Given the description of an element on the screen output the (x, y) to click on. 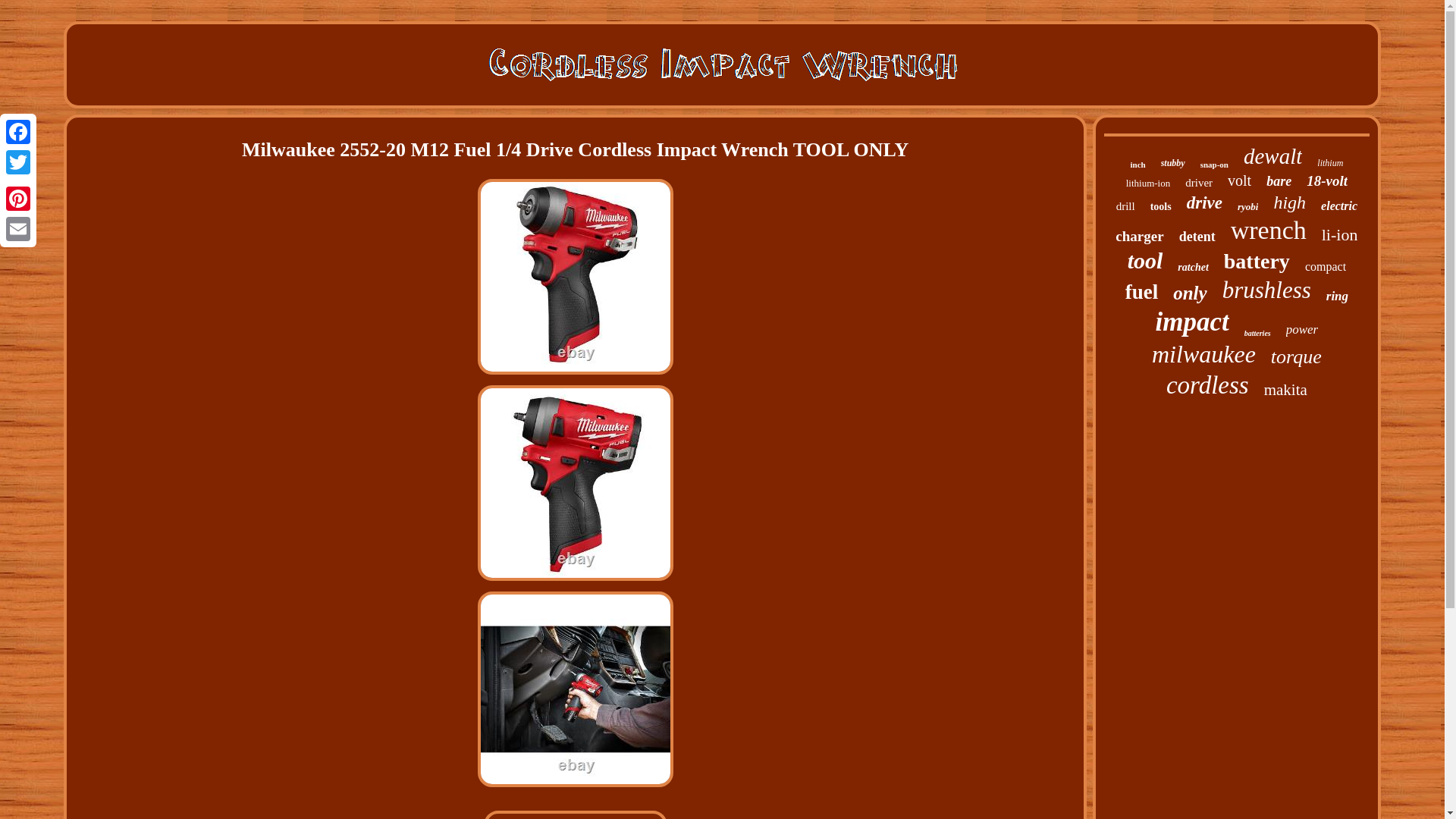
drill (1125, 205)
tool (1144, 260)
bare (1278, 181)
lithium (1329, 163)
only (1190, 292)
compact (1324, 266)
high (1289, 202)
detent (1197, 236)
ring (1337, 296)
drive (1204, 202)
